Given the description of an element on the screen output the (x, y) to click on. 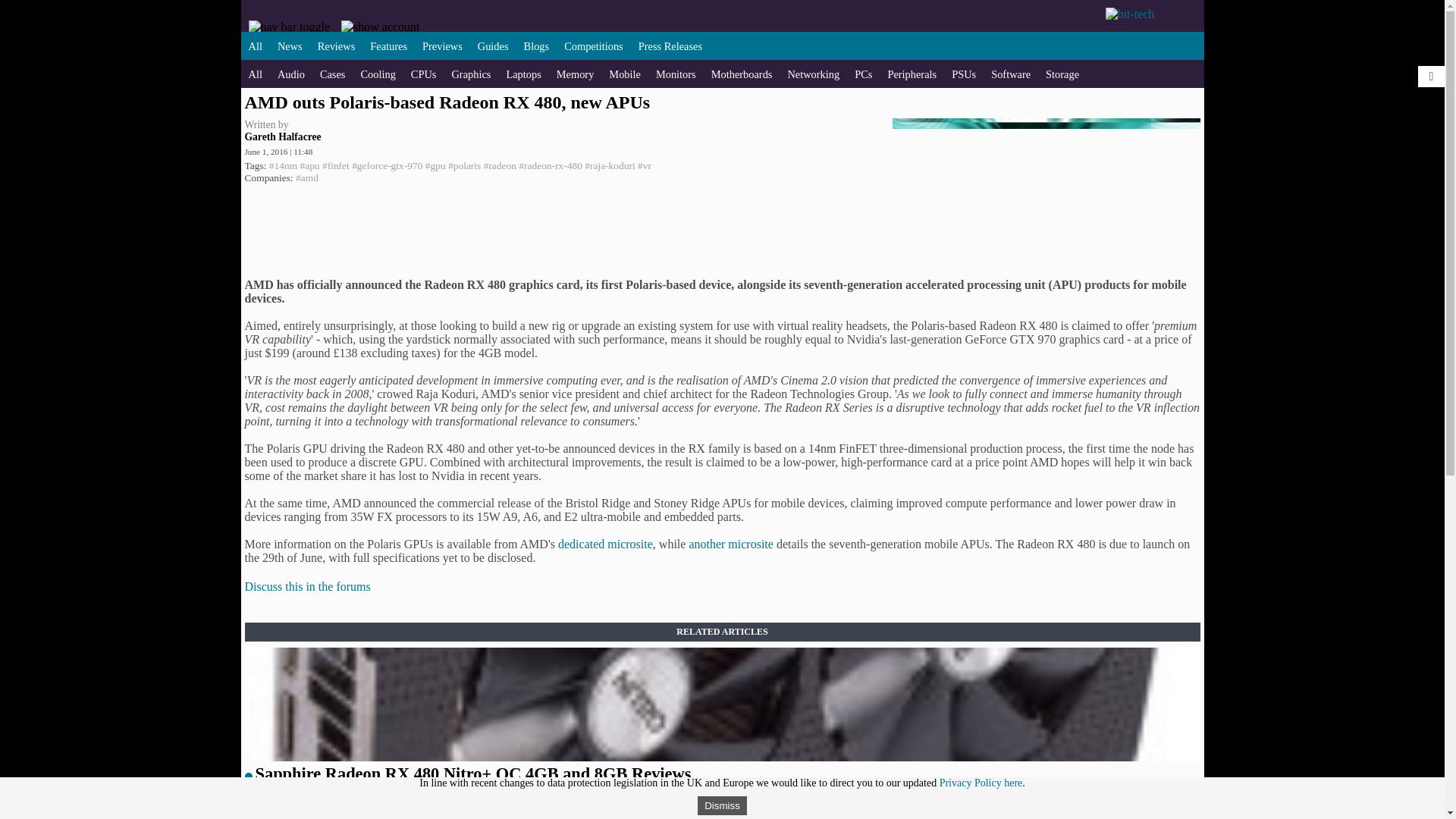
PSUs (963, 73)
Motherboards (742, 73)
Peripherals (911, 73)
CPUs (423, 73)
Guides (492, 46)
Previews (442, 46)
Reviews (336, 46)
News (290, 46)
All (255, 73)
Graphics (470, 73)
